Given the description of an element on the screen output the (x, y) to click on. 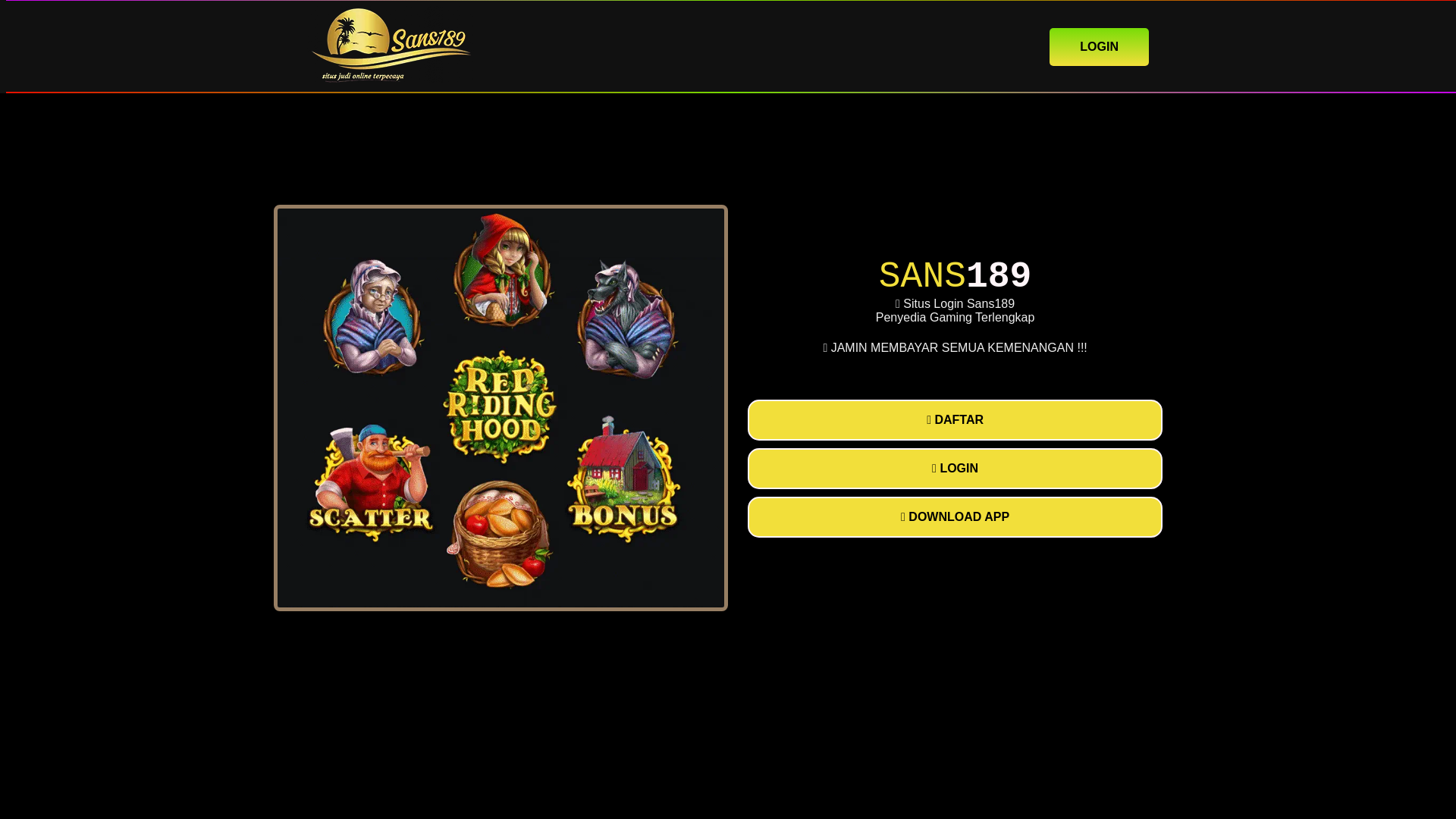
LOGIN (954, 467)
LOGIN (1098, 46)
DOWNLOAD APP (954, 516)
DAFTAR (954, 419)
